Given the description of an element on the screen output the (x, y) to click on. 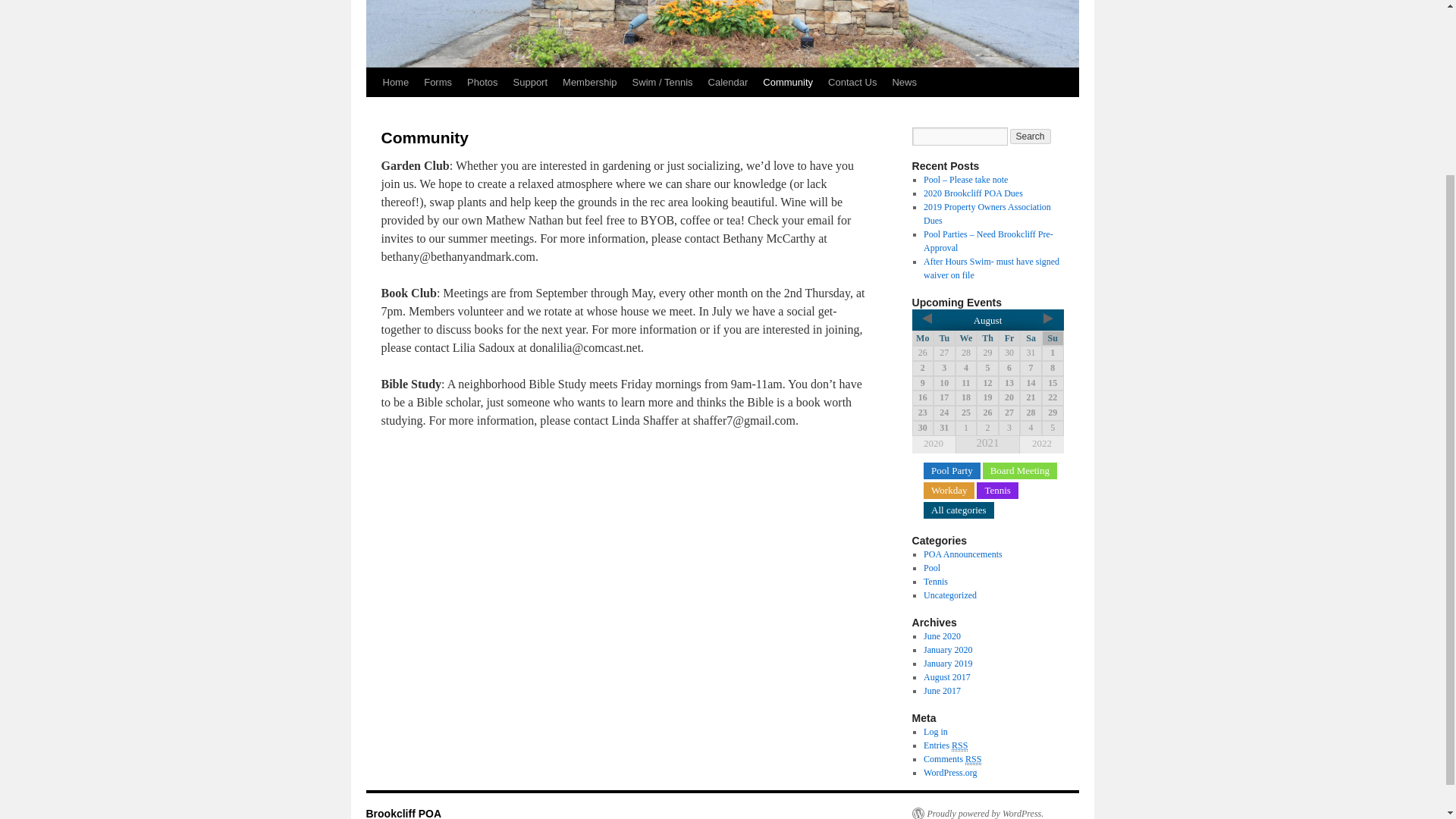
Log in (935, 731)
June 2020 (941, 635)
Contact Us (852, 82)
Entries RSS (945, 745)
January 2019 (947, 663)
January 2020 (947, 649)
Photos (482, 82)
News (903, 82)
Search (1030, 136)
